Given the description of an element on the screen output the (x, y) to click on. 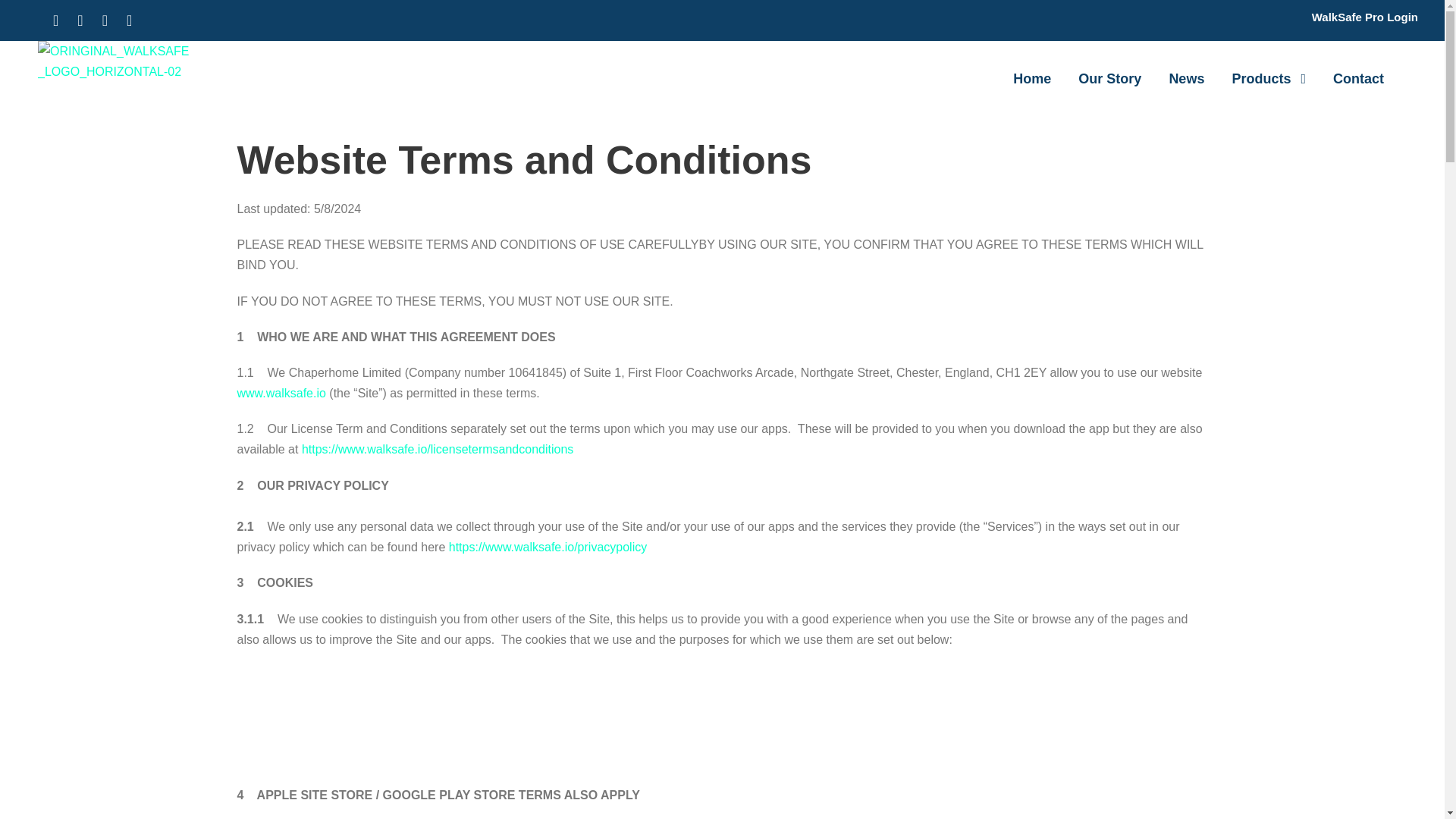
Table Master (349, 721)
Our Story (1109, 78)
News (1186, 78)
WalkSafe Pro Login (1364, 16)
Home (1032, 78)
Products (1268, 78)
